Given the description of an element on the screen output the (x, y) to click on. 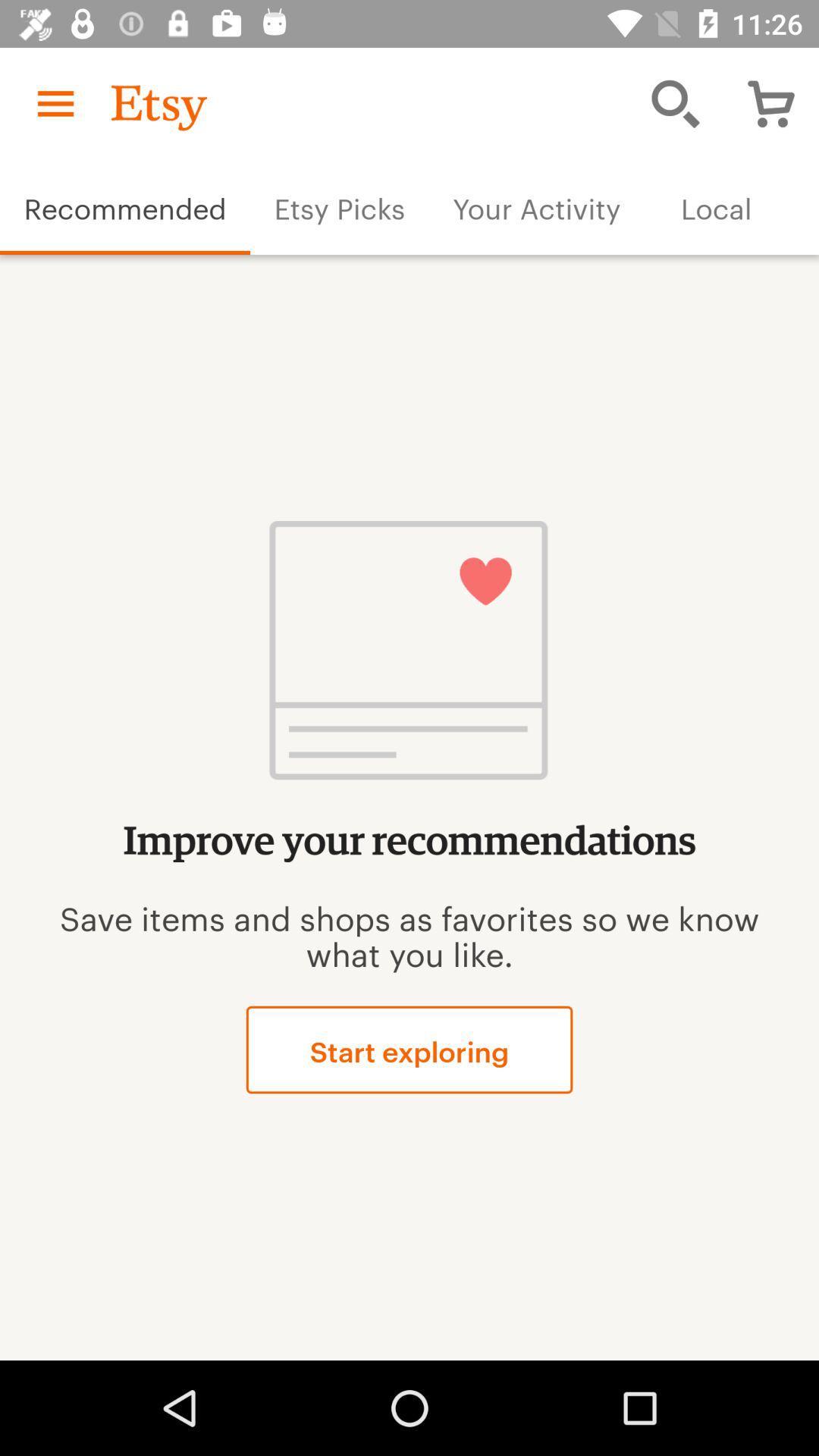
turn on item above the recommended (55, 103)
